Given the description of an element on the screen output the (x, y) to click on. 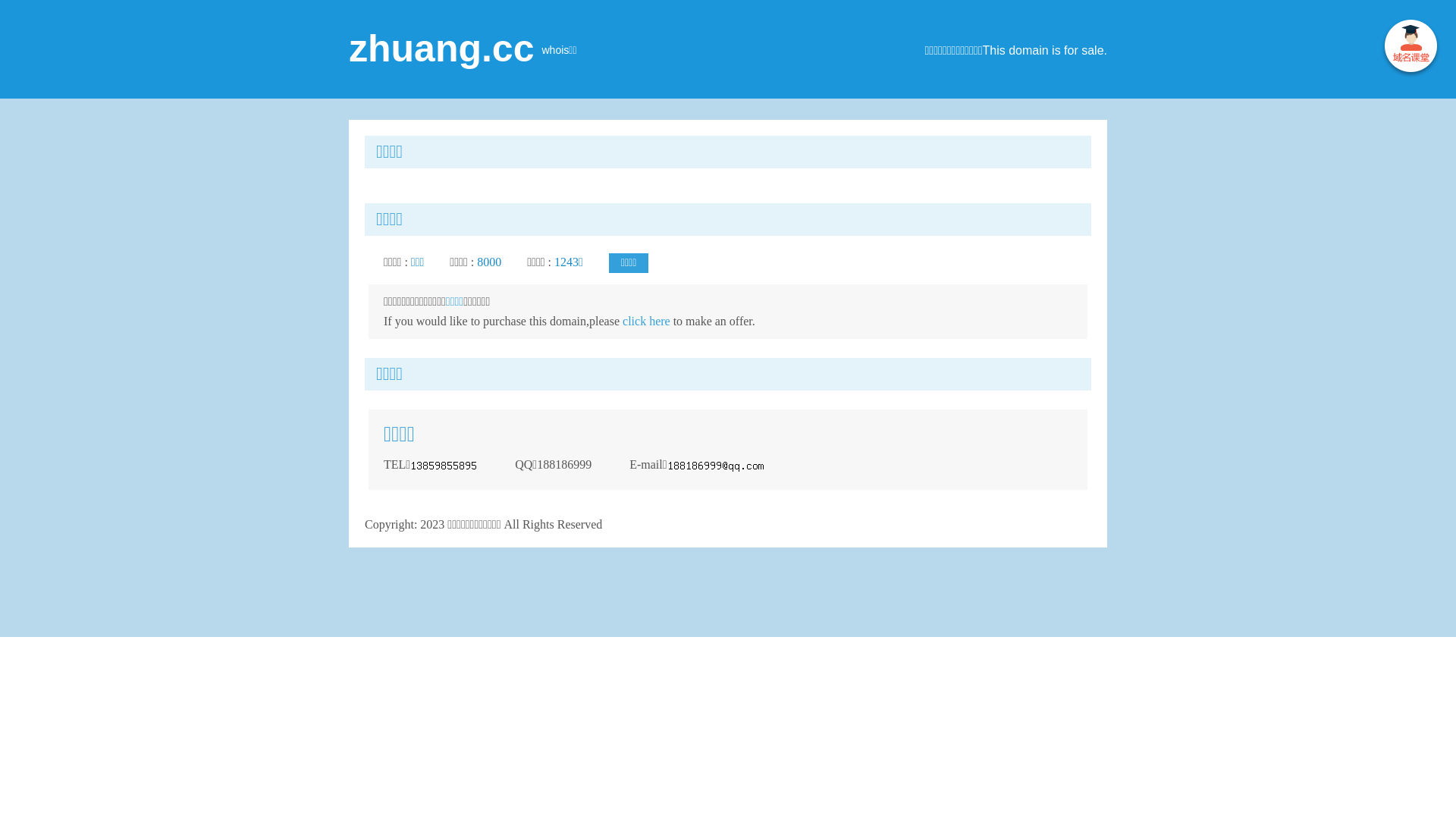
click here Element type: text (646, 320)
